Given the description of an element on the screen output the (x, y) to click on. 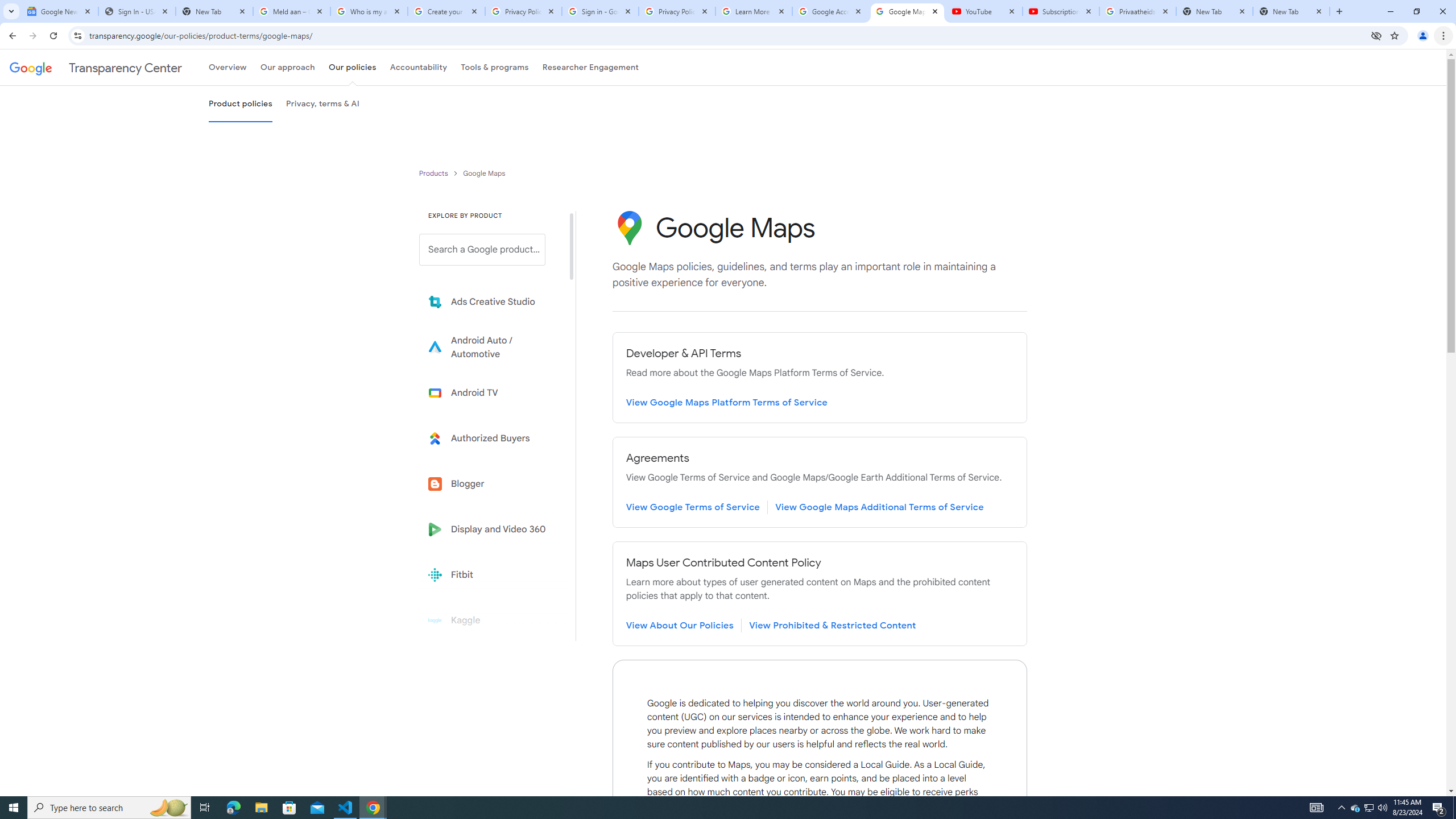
Researcher Engagement (590, 67)
